Given the description of an element on the screen output the (x, y) to click on. 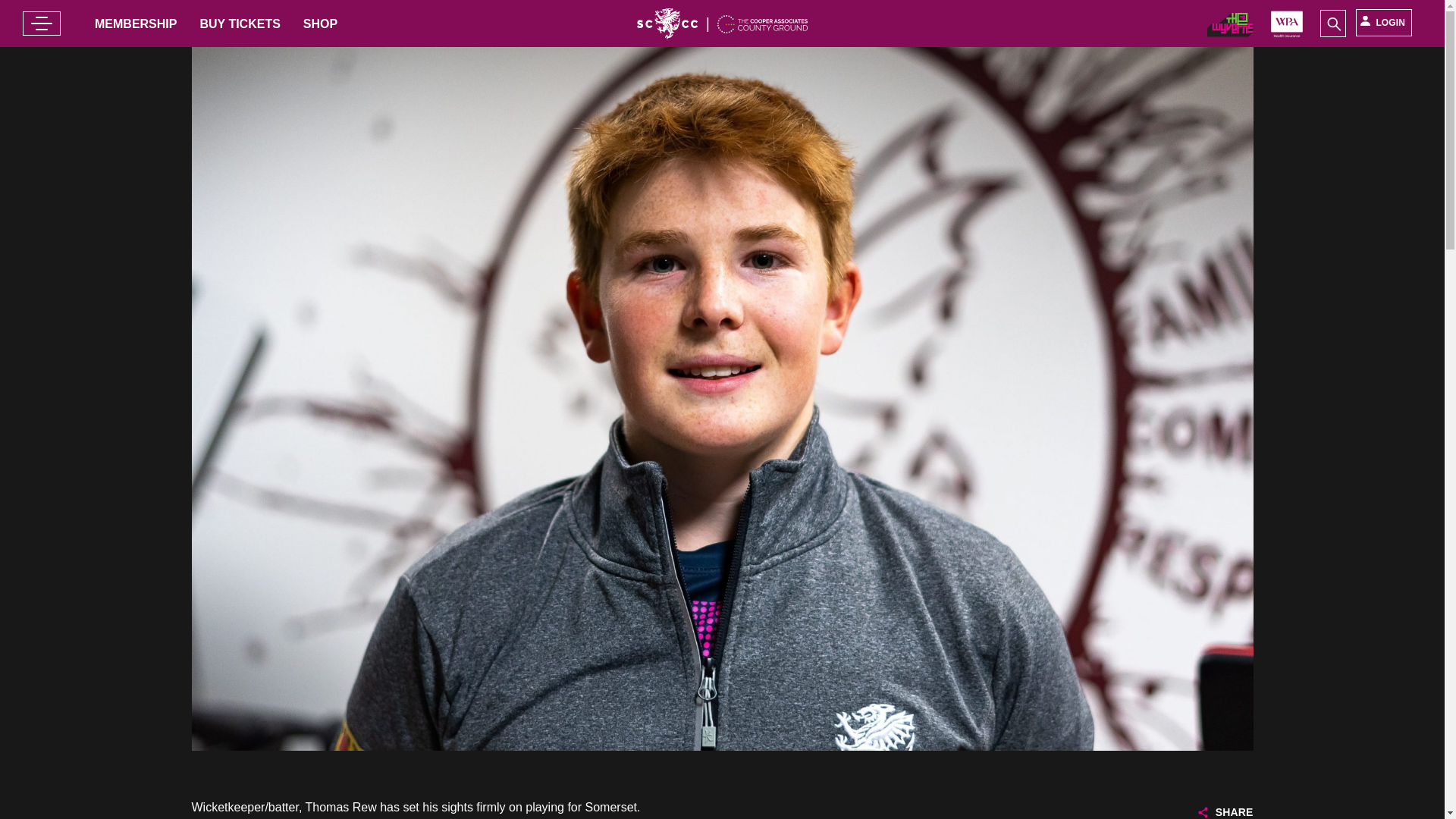
LOGIN (1383, 22)
BUY TICKETS (239, 23)
wpa icon (1286, 34)
SHOP (320, 23)
login btn (1383, 22)
wpa icon (1230, 31)
search icon (1332, 22)
MEMBERSHIP (134, 23)
